Given the description of an element on the screen output the (x, y) to click on. 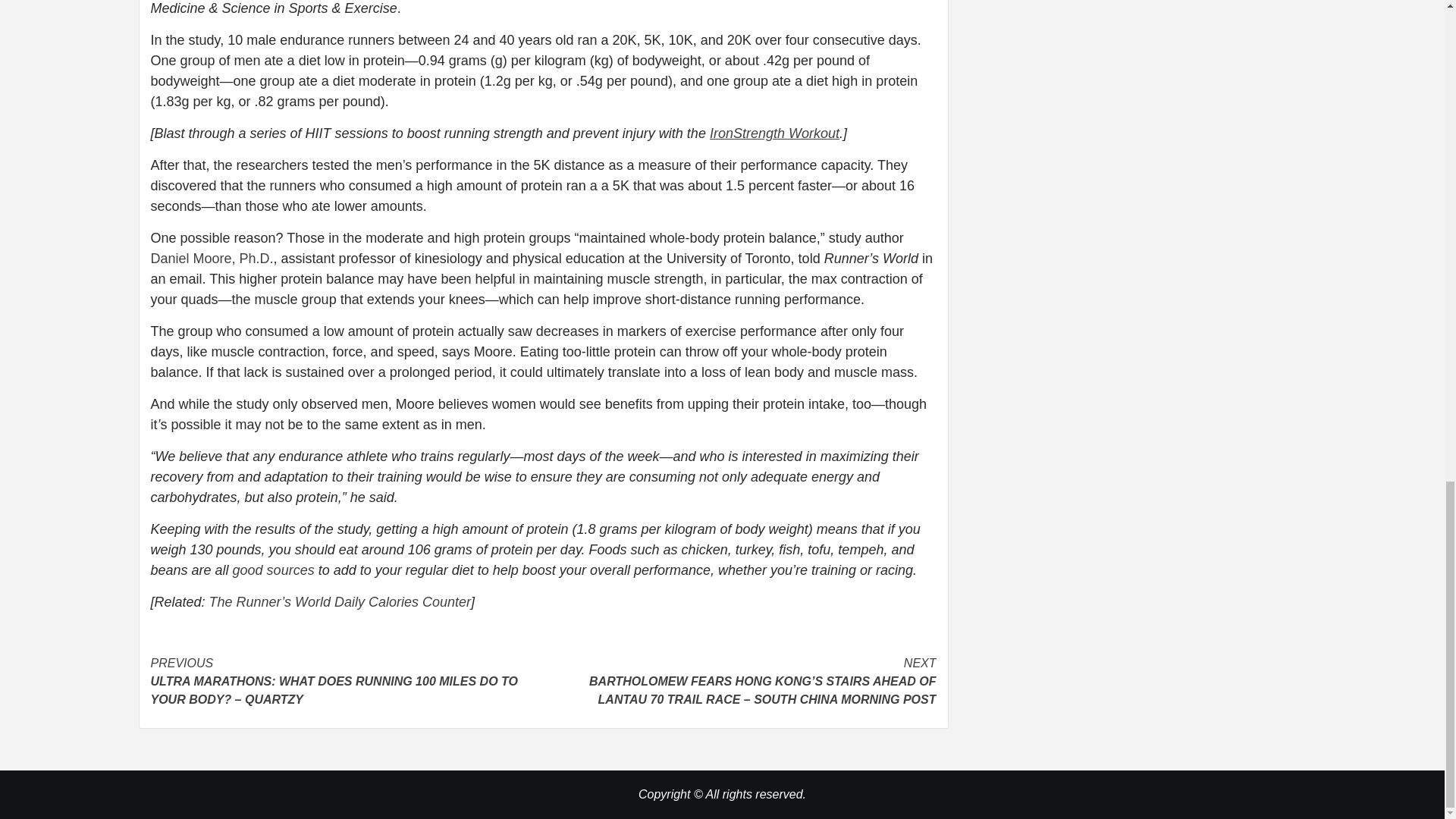
Daniel Moore, Ph.D. (211, 258)
IronStrength Workout (775, 133)
good sources (273, 570)
